Given the description of an element on the screen output the (x, y) to click on. 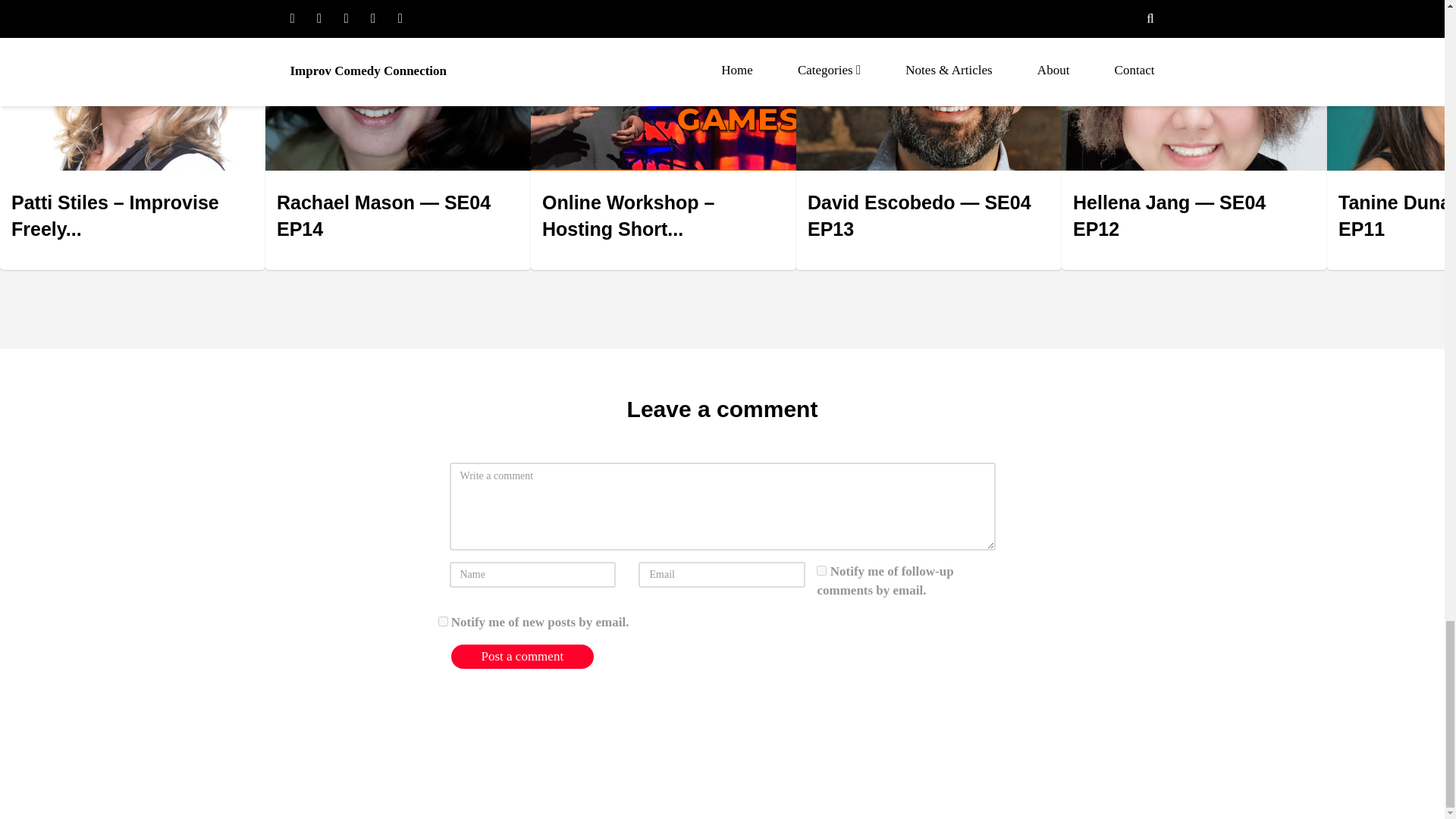
Post a comment (521, 656)
subscribe (821, 570)
subscribe (443, 621)
